Given the description of an element on the screen output the (x, y) to click on. 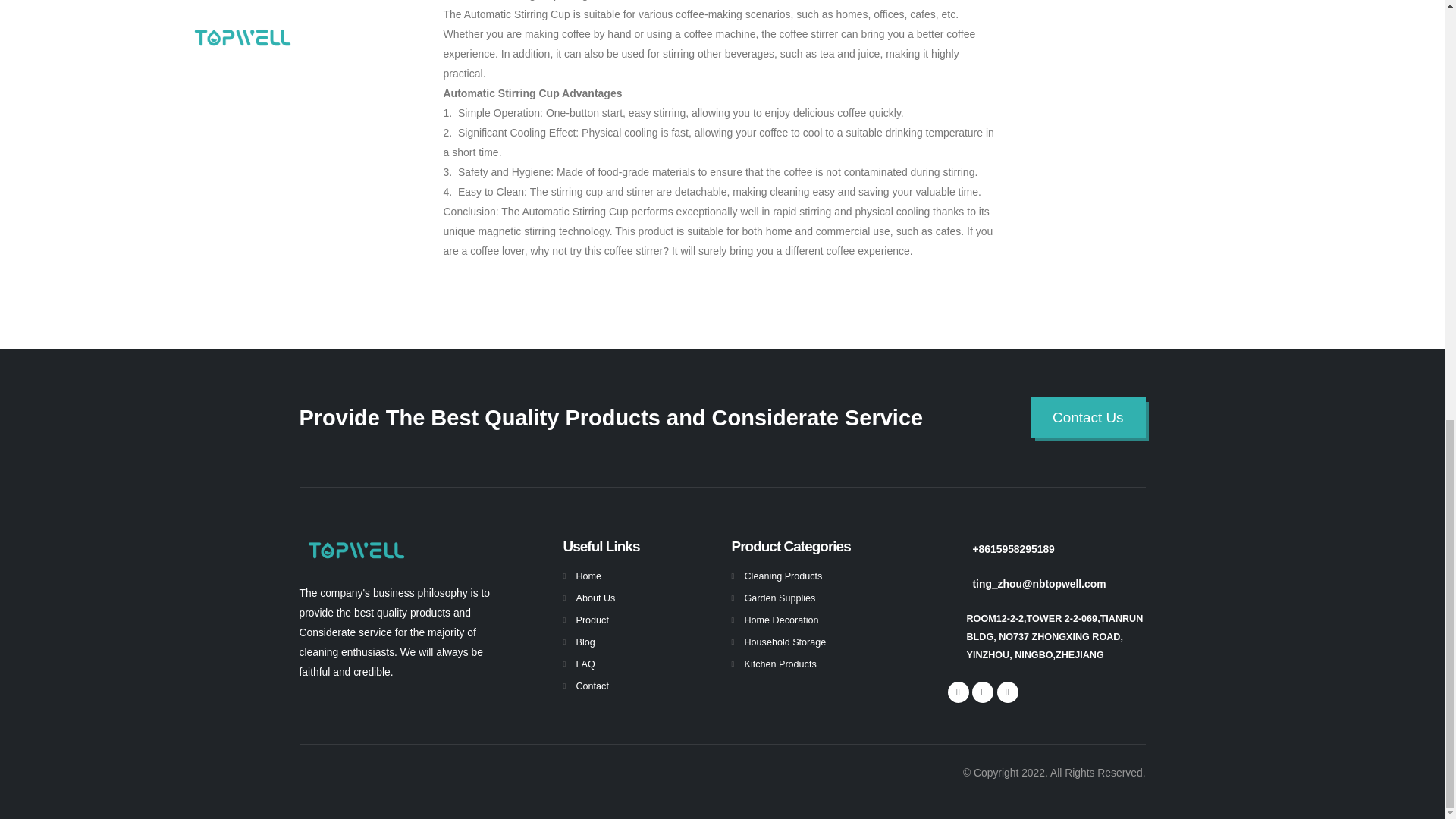
Cleaning Products (783, 575)
Contact Us (1087, 417)
Contact (592, 685)
Home (589, 575)
Household Storage (785, 642)
About Us (595, 597)
Home Decoration (781, 620)
Kitchen Products (780, 664)
Garden Supplies (779, 597)
Product (592, 620)
Blog (585, 642)
FAQ (585, 664)
